Given the description of an element on the screen output the (x, y) to click on. 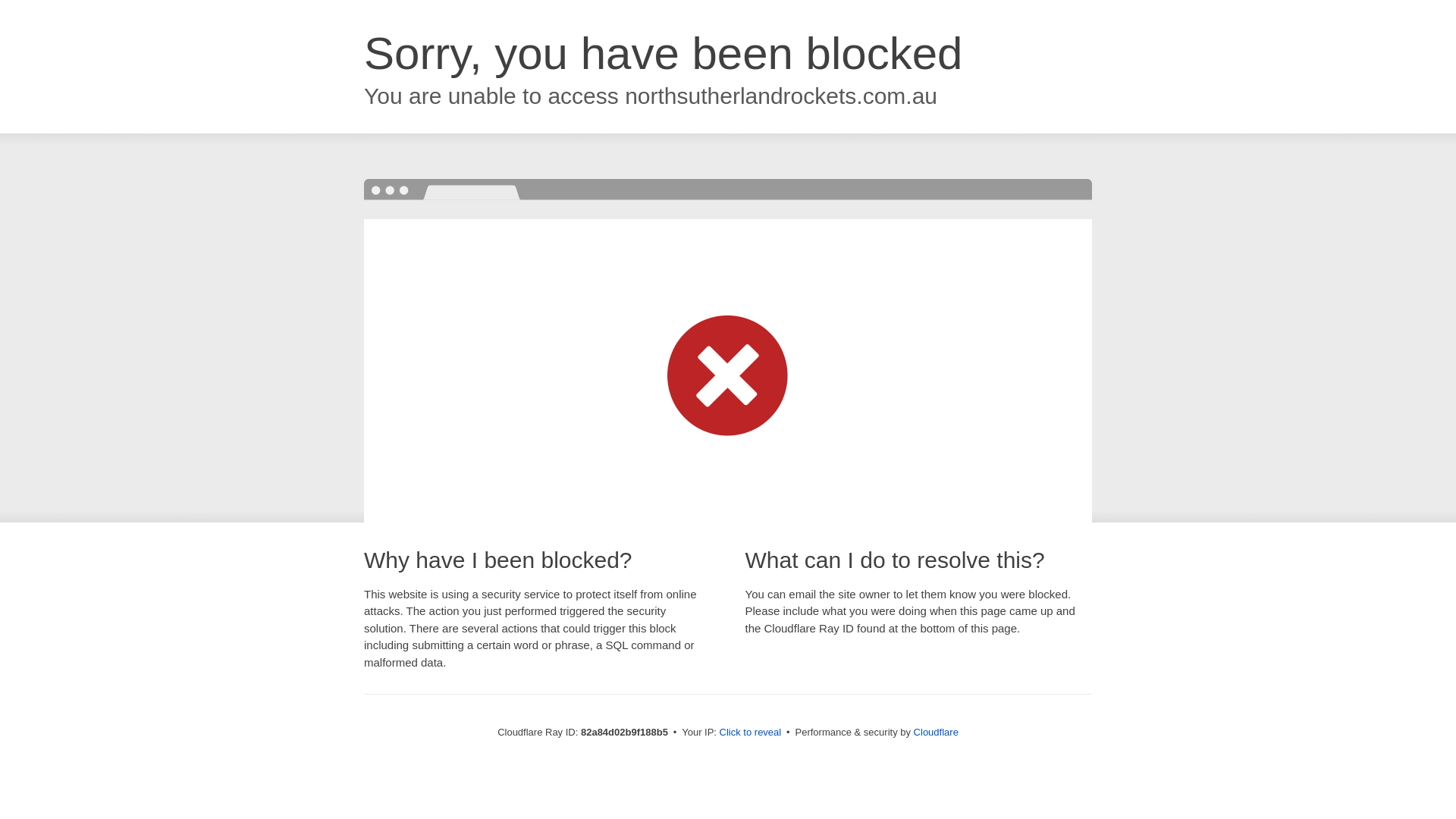
Click to reveal Element type: text (750, 732)
Cloudflare Element type: text (935, 731)
